Given the description of an element on the screen output the (x, y) to click on. 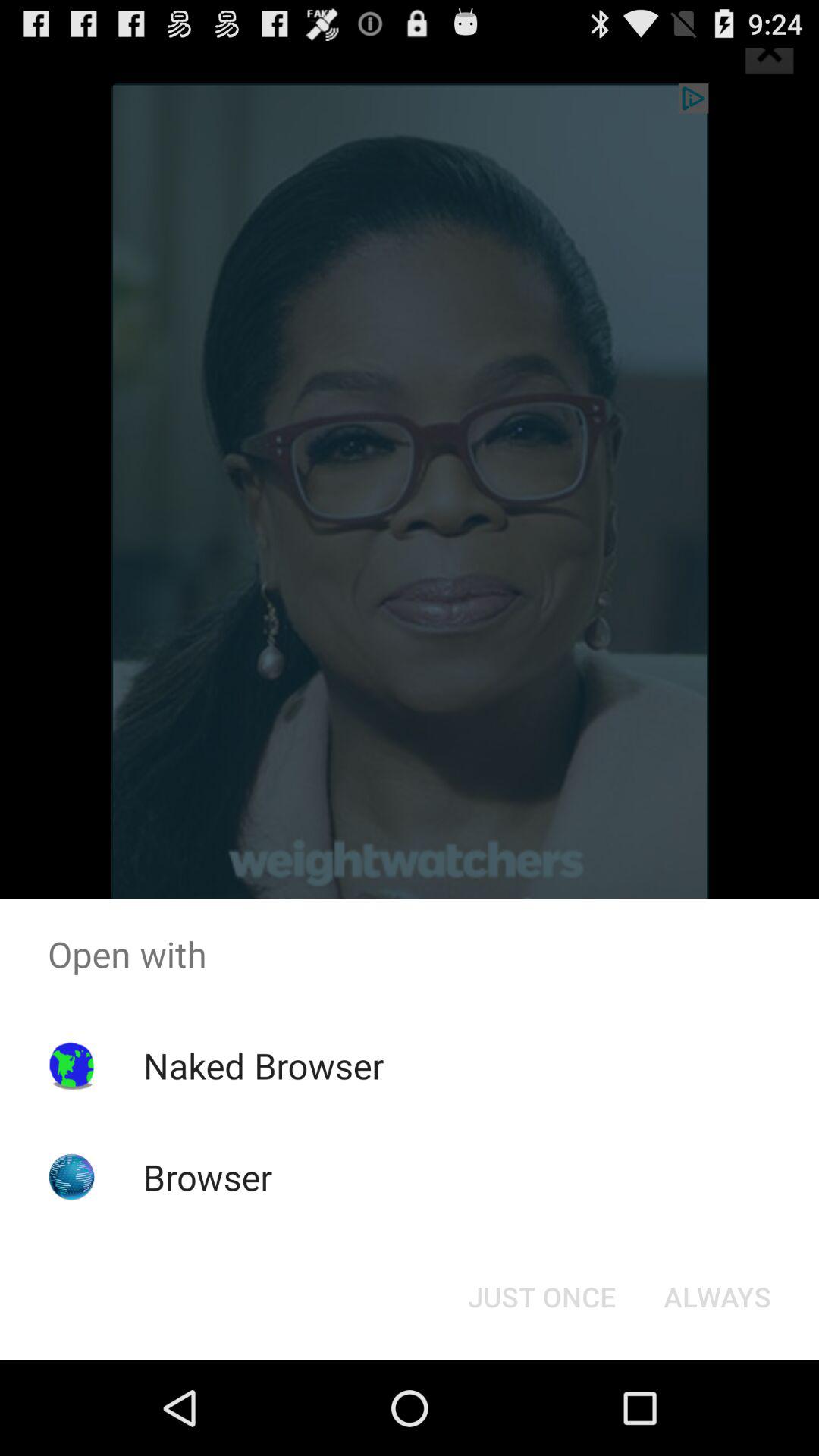
turn off icon next to always button (541, 1296)
